Given the description of an element on the screen output the (x, y) to click on. 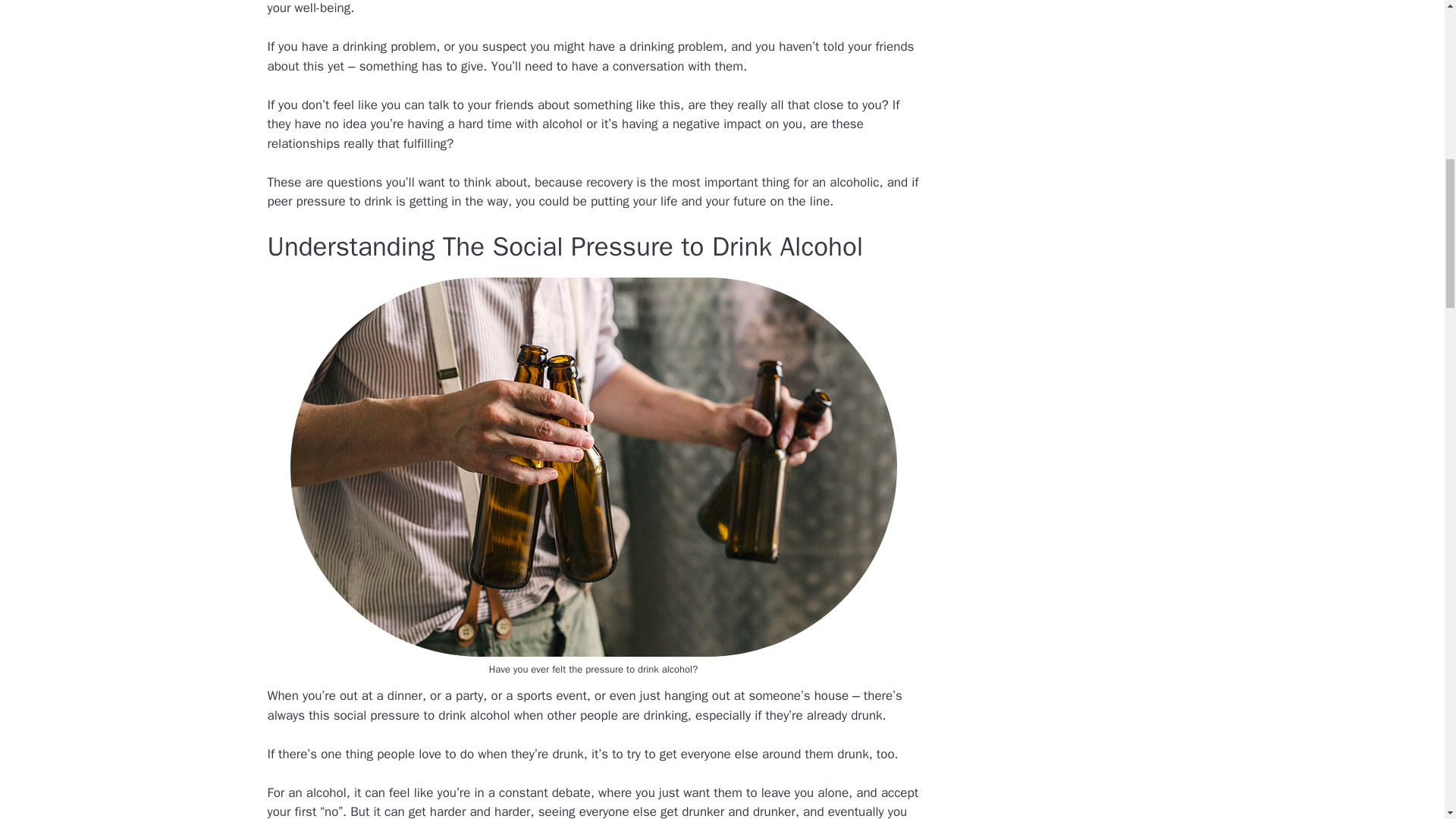
Scroll back to top (1406, 720)
